Given the description of an element on the screen output the (x, y) to click on. 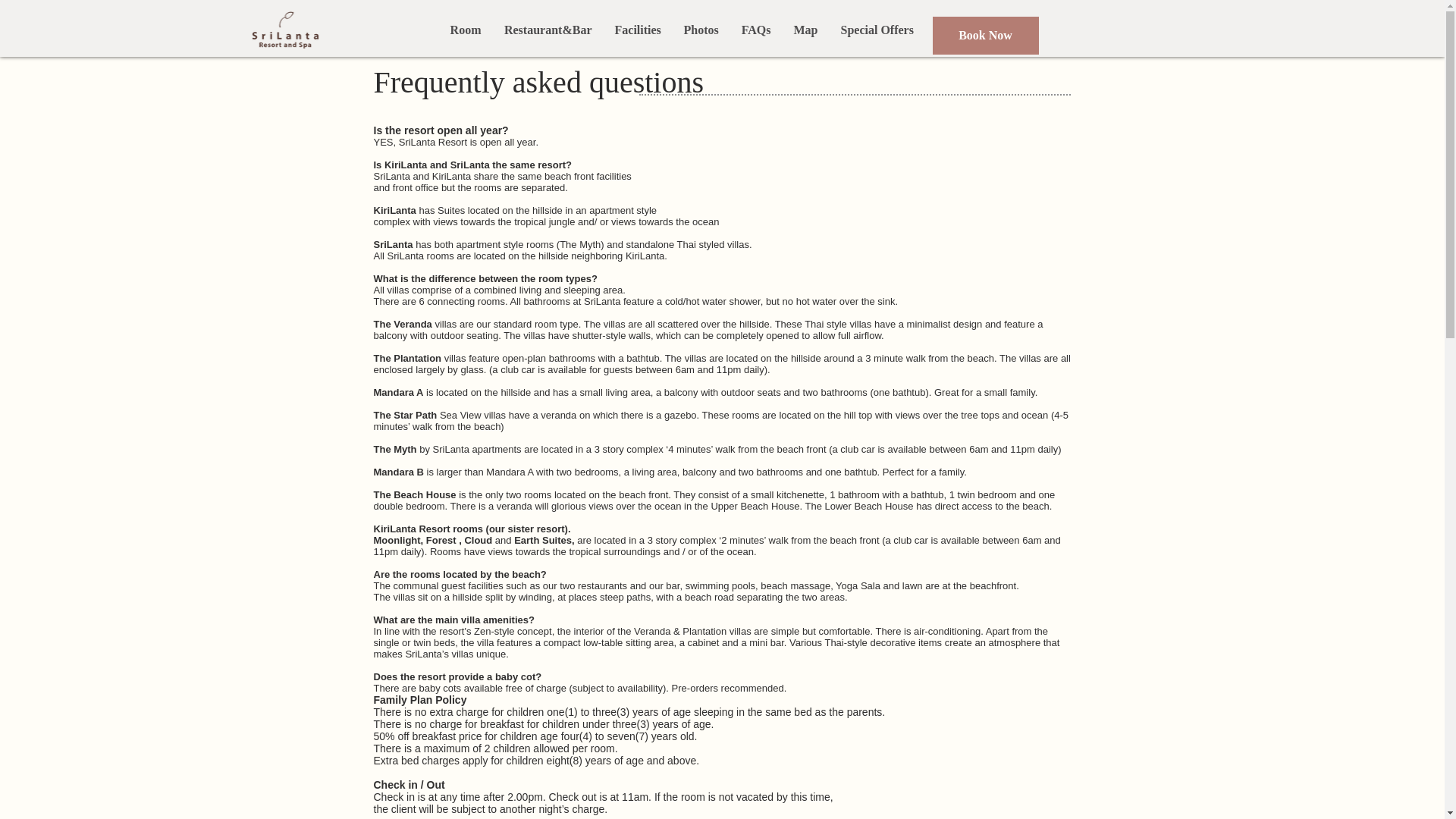
Book Now (986, 35)
Facilities (638, 30)
Map (806, 30)
FAQs (755, 30)
Room (465, 30)
Photos (700, 30)
Special Offers (876, 30)
